Given the description of an element on the screen output the (x, y) to click on. 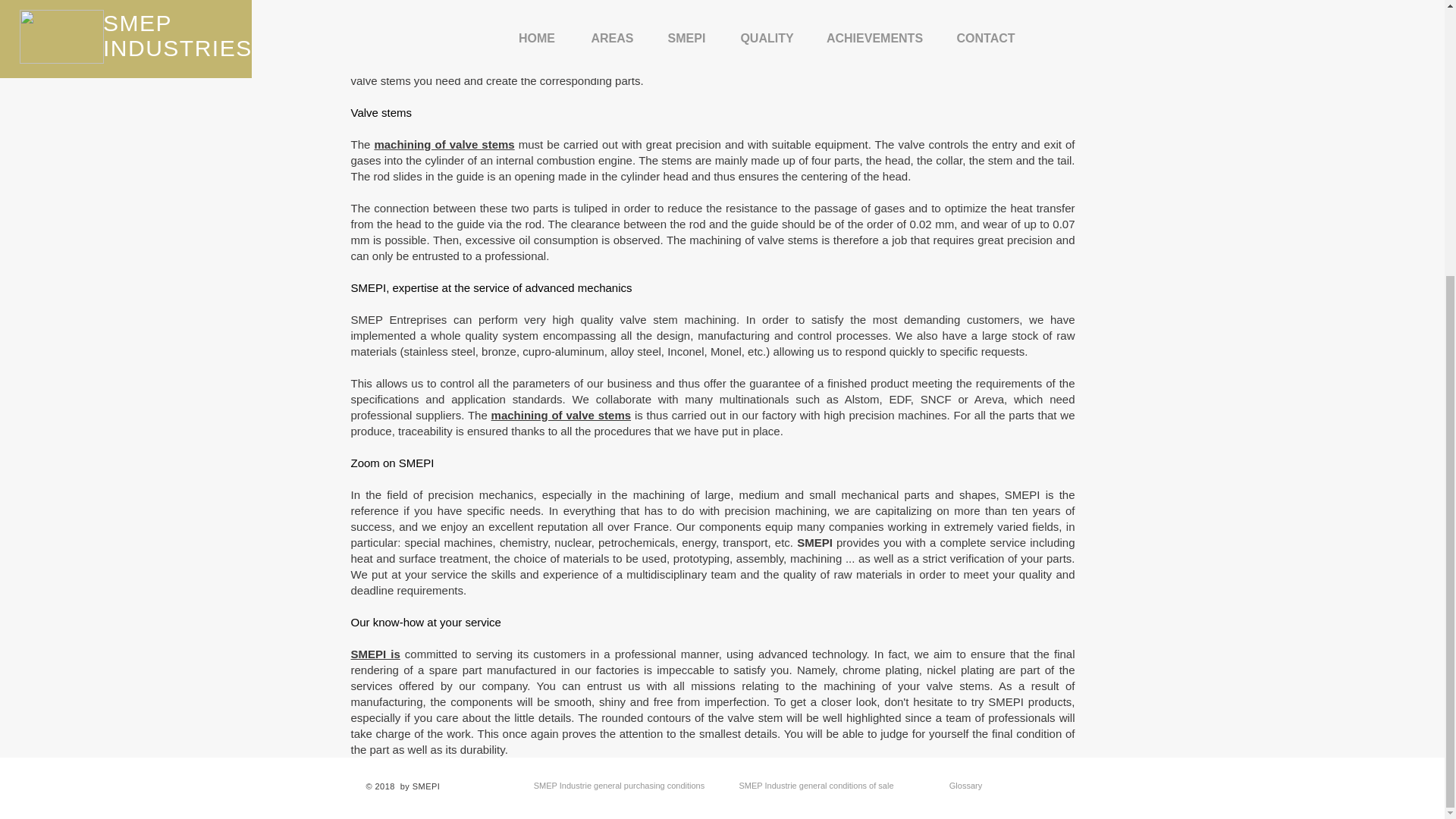
Glossary (965, 785)
machining of valve stems (561, 414)
machining of valve stems (443, 144)
SMEPI is (374, 653)
SMEP Industrie general conditions of sale (815, 786)
SMEP Industrie general purchasing conditions (618, 786)
